Given the description of an element on the screen output the (x, y) to click on. 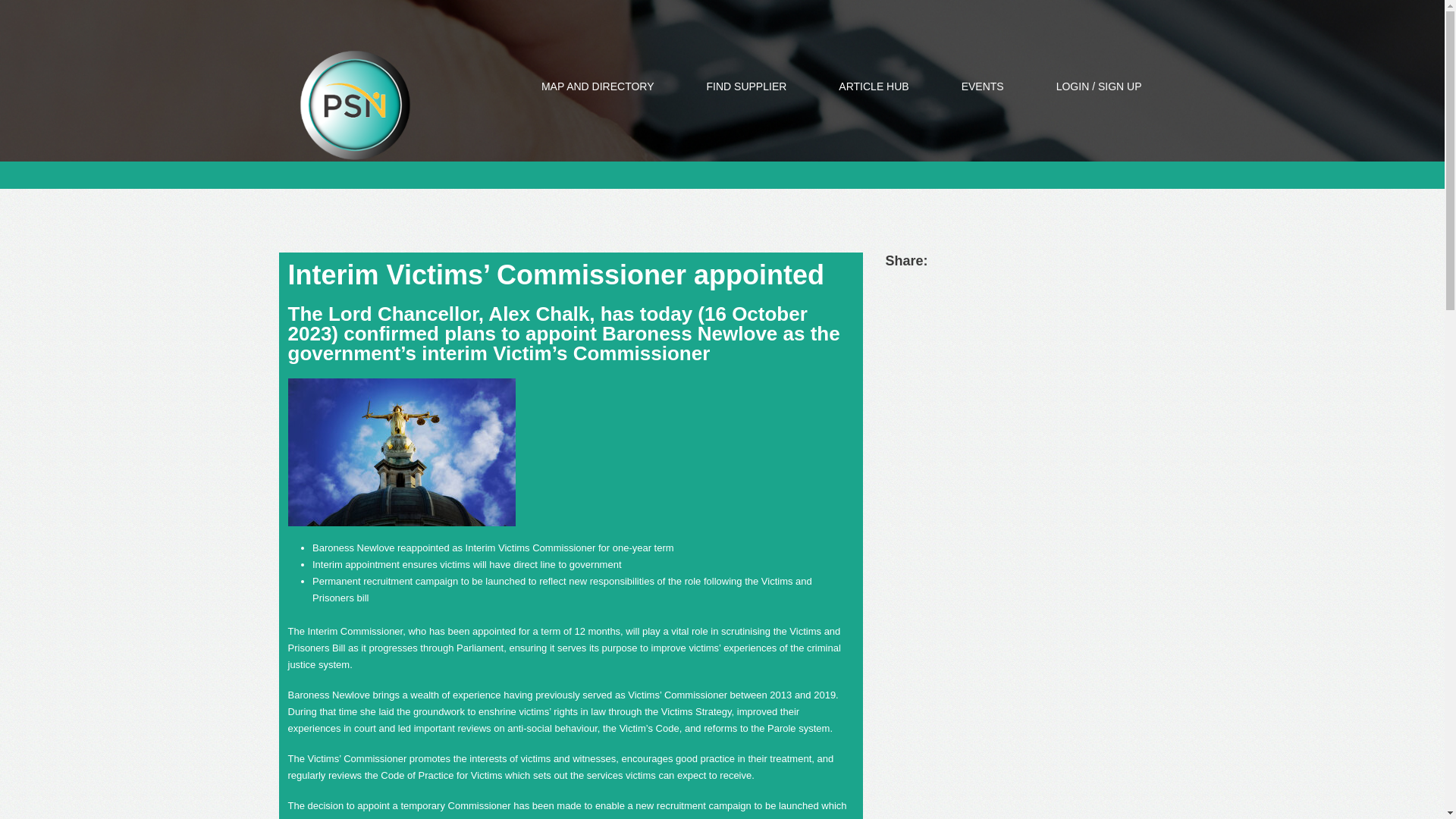
MAP AND DIRECTORY (598, 85)
EVENTS (982, 85)
FIND SUPPLIER (746, 85)
ARTICLE HUB (873, 85)
